Given the description of an element on the screen output the (x, y) to click on. 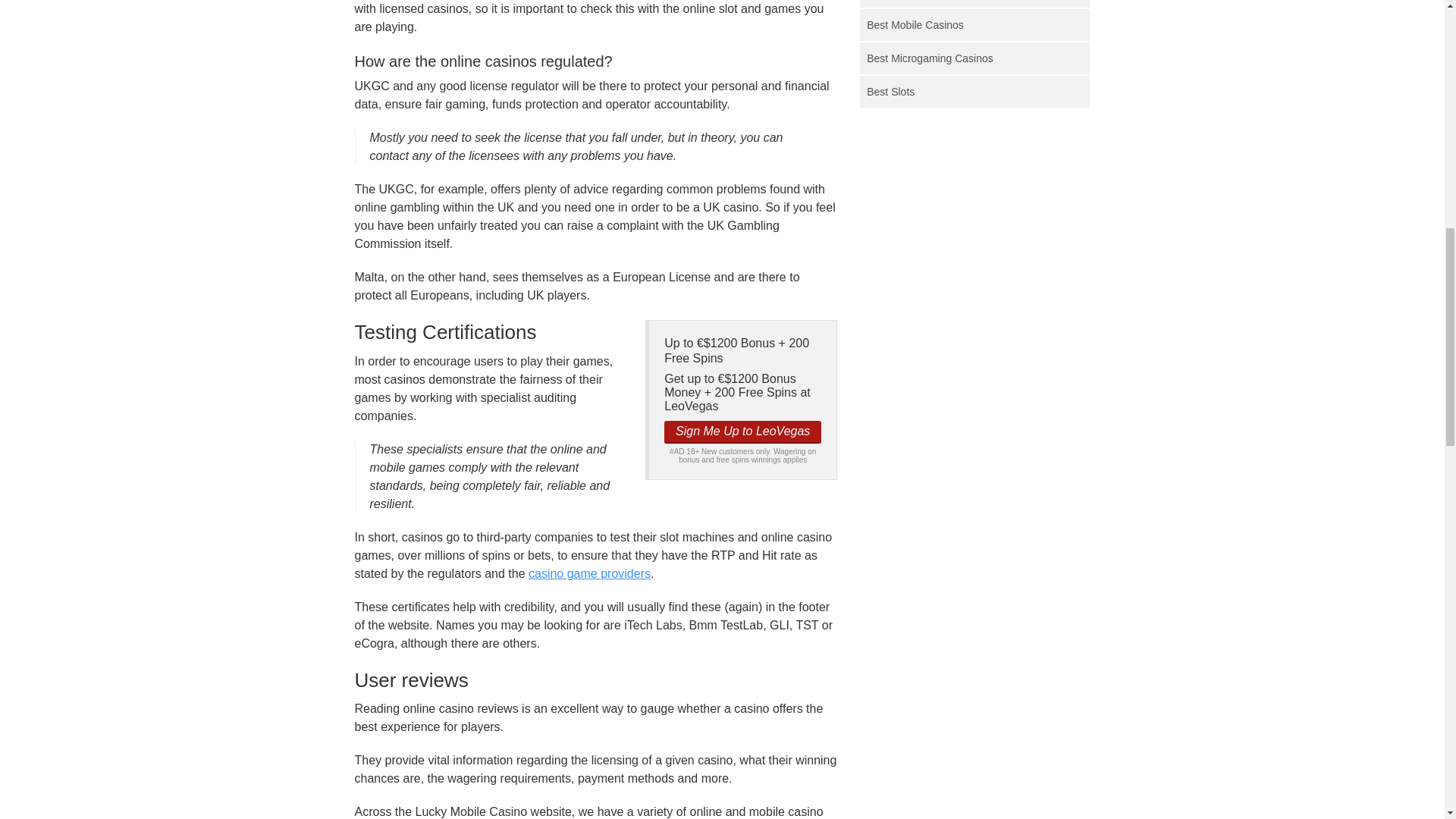
casino game providers (589, 573)
Sign Me Up to LeoVegas (742, 431)
